Given the description of an element on the screen output the (x, y) to click on. 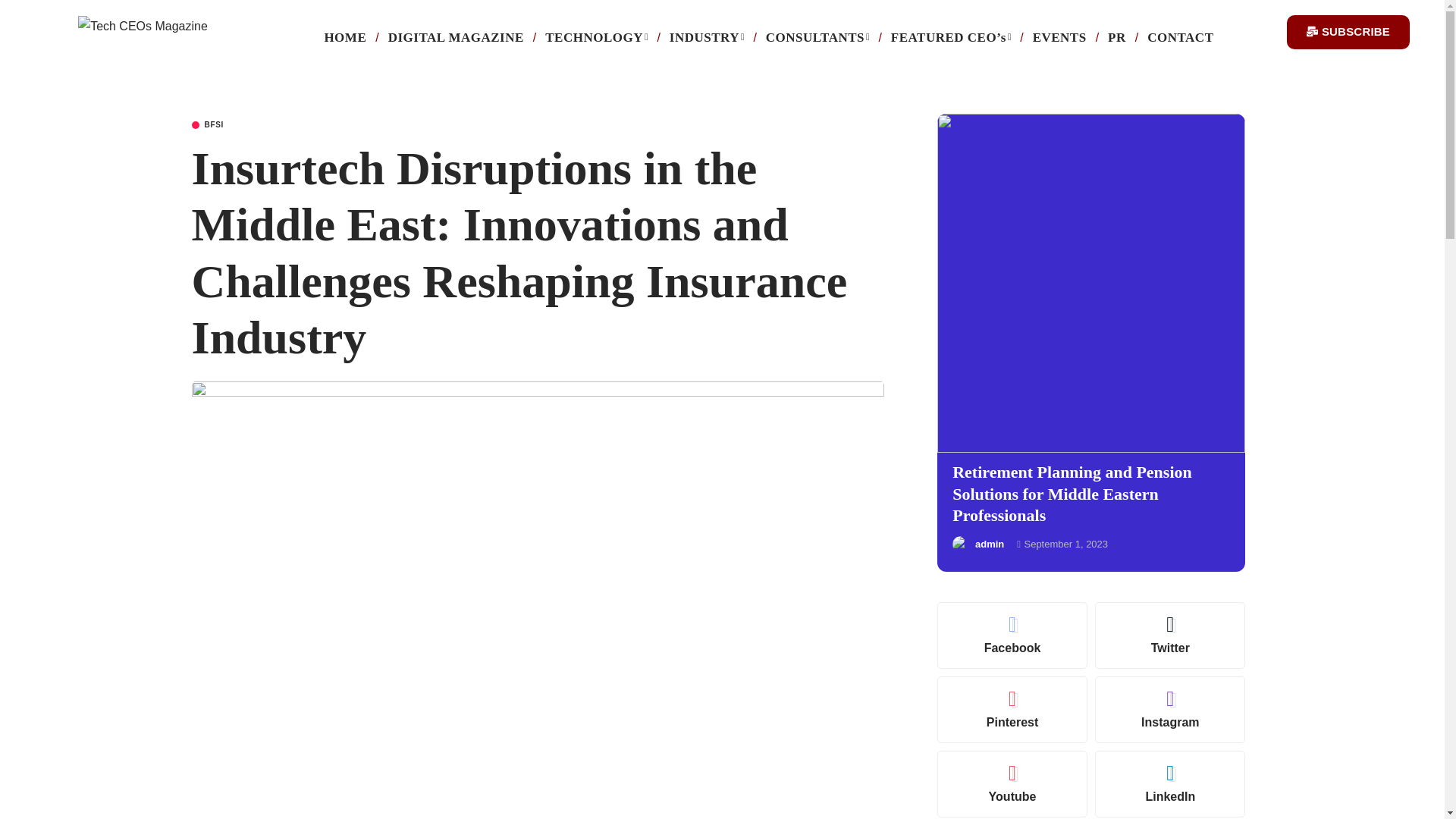
DIGITAL MAGAZINE (455, 37)
TECHNOLOGY (595, 37)
CONSULTANTS (818, 37)
INDUSTRY (707, 37)
CONTACT (1180, 37)
EVENTS (1059, 37)
HOME (344, 37)
